Given the description of an element on the screen output the (x, y) to click on. 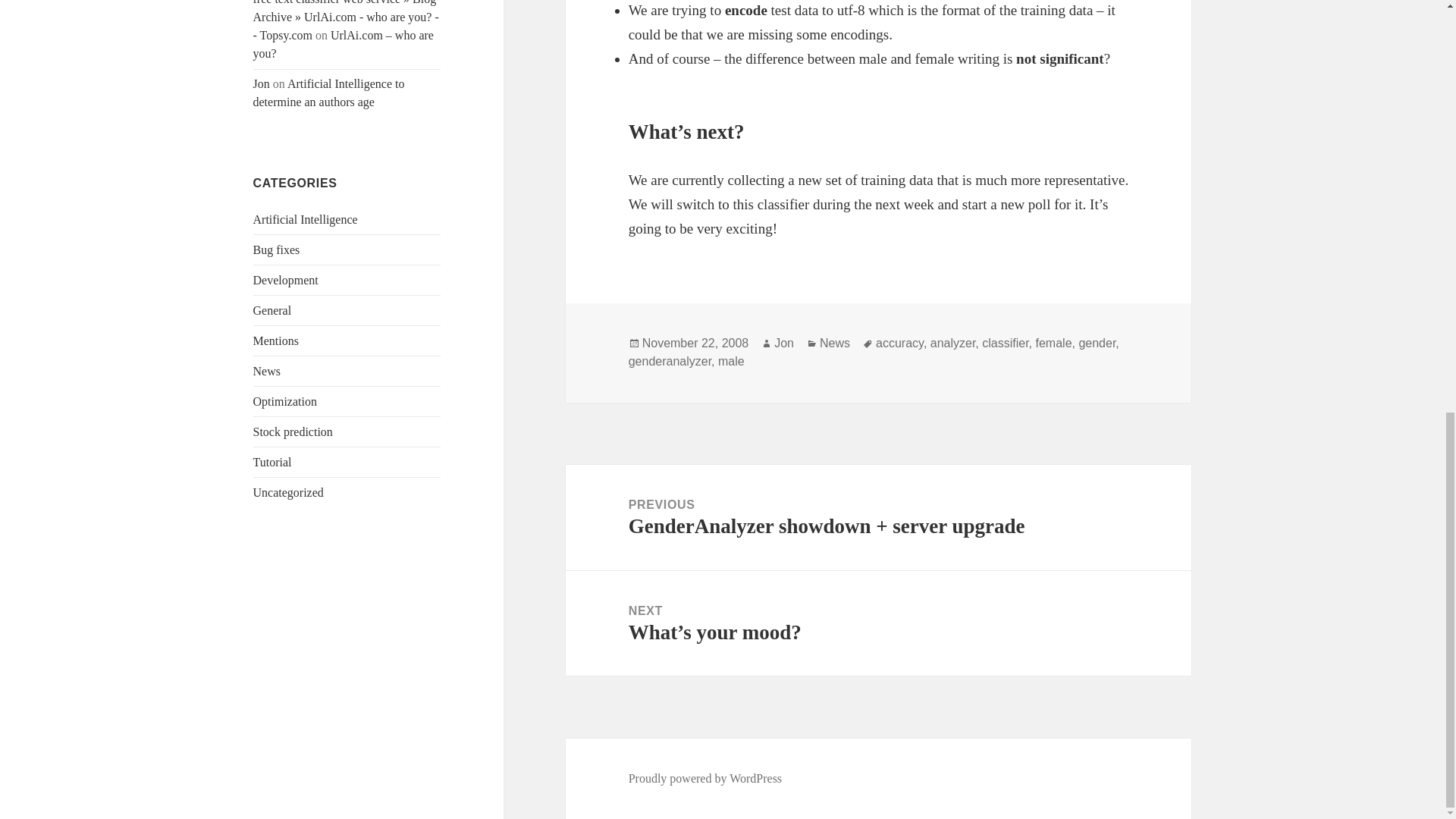
Stock prediction (293, 431)
Artificial Intelligence to determine an authors age (328, 92)
Artificial Intelligence (305, 219)
accuracy (899, 343)
General (272, 309)
Uncategorized (288, 492)
Mentions (275, 340)
November 22, 2008 (695, 343)
Development (285, 279)
analyzer (952, 343)
Jon (783, 343)
Bug fixes (276, 249)
Optimization (285, 400)
News (267, 370)
Tutorial (272, 461)
